Given the description of an element on the screen output the (x, y) to click on. 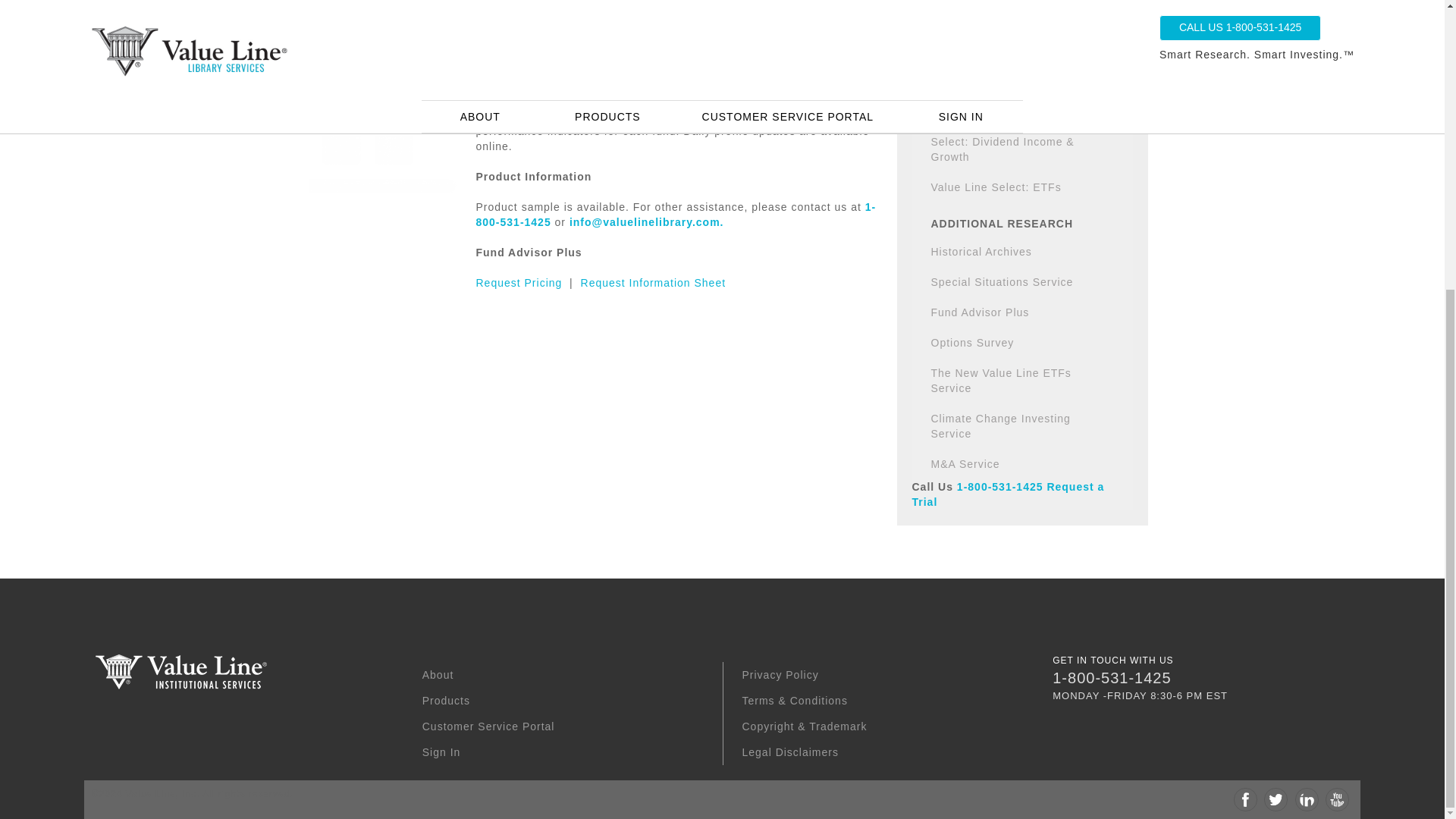
1-800-531-1425 (676, 214)
